Given the description of an element on the screen output the (x, y) to click on. 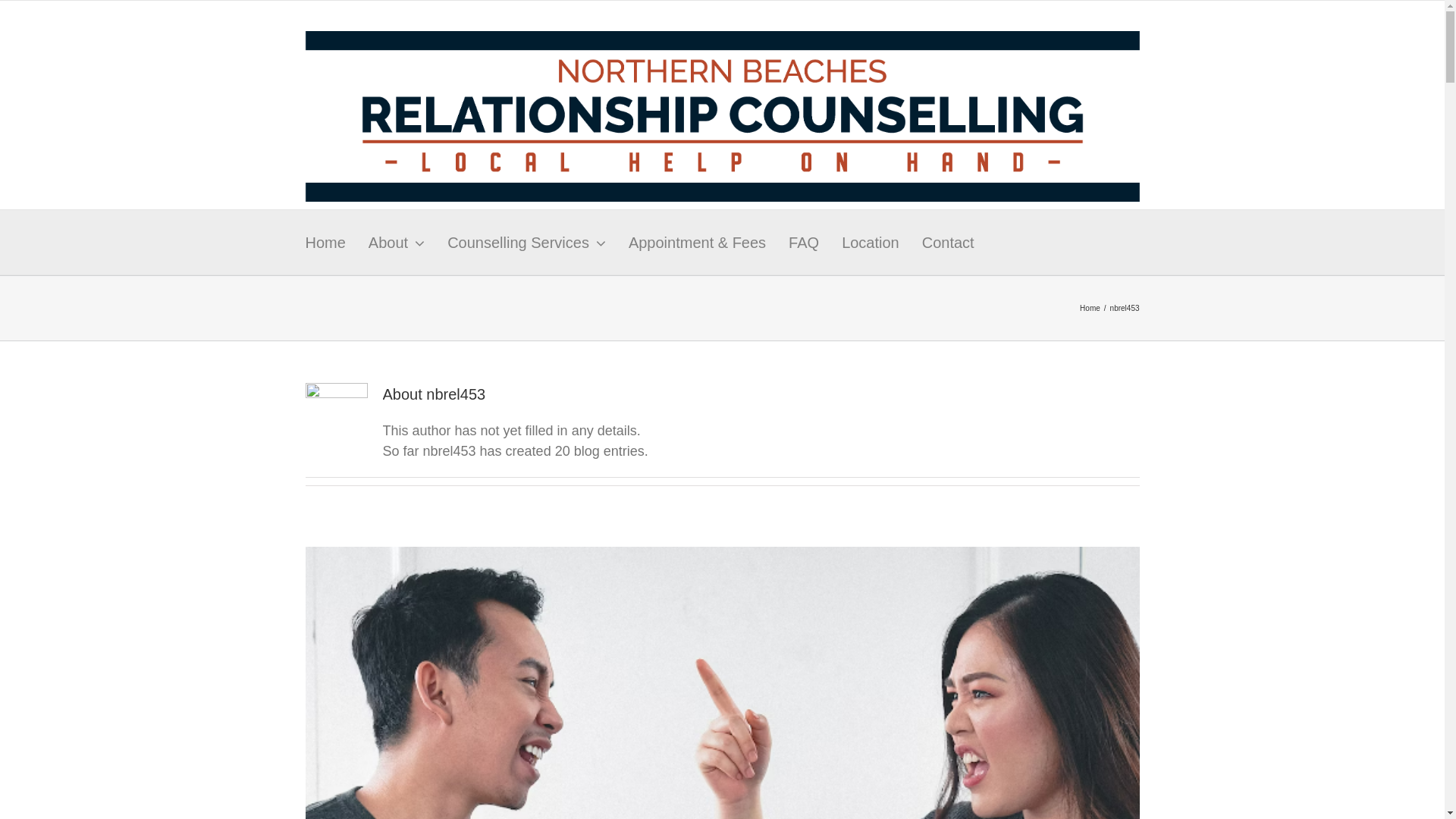
About Element type: text (396, 242)
Location Element type: text (870, 242)
Home Element type: text (324, 242)
Home Element type: text (1089, 308)
FAQ Element type: text (803, 242)
Appointment & Fees Element type: text (696, 242)
Contact Element type: text (948, 242)
Counselling Services Element type: text (526, 242)
